Given the description of an element on the screen output the (x, y) to click on. 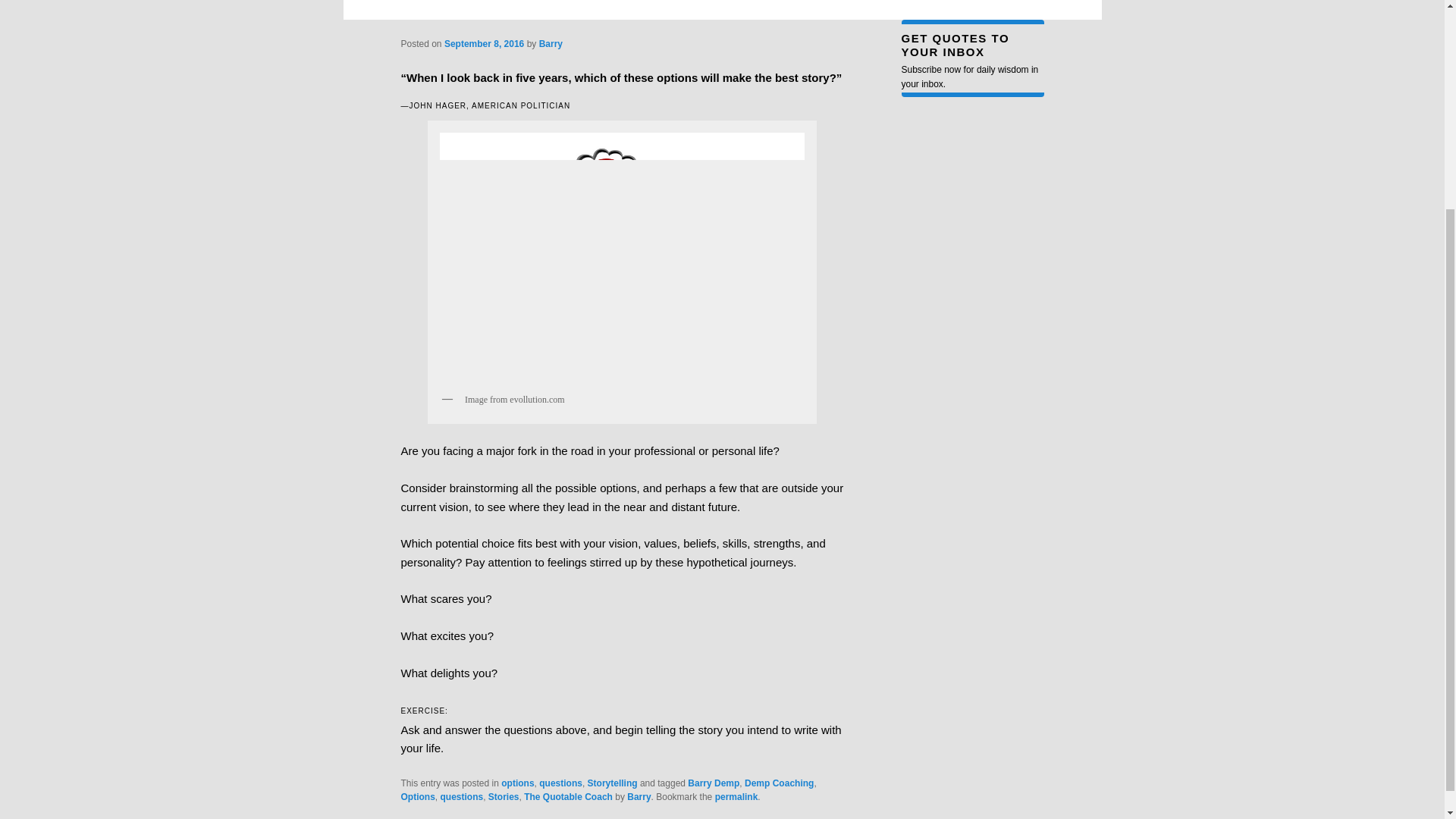
Demp Coaching (778, 783)
Storytelling (612, 783)
Options (416, 796)
View all posts by Barry (550, 42)
Permalink to  (736, 796)
questions (461, 796)
Barry (550, 42)
Stories (503, 796)
The Quotable Coach (568, 796)
permalink (736, 796)
